Given the description of an element on the screen output the (x, y) to click on. 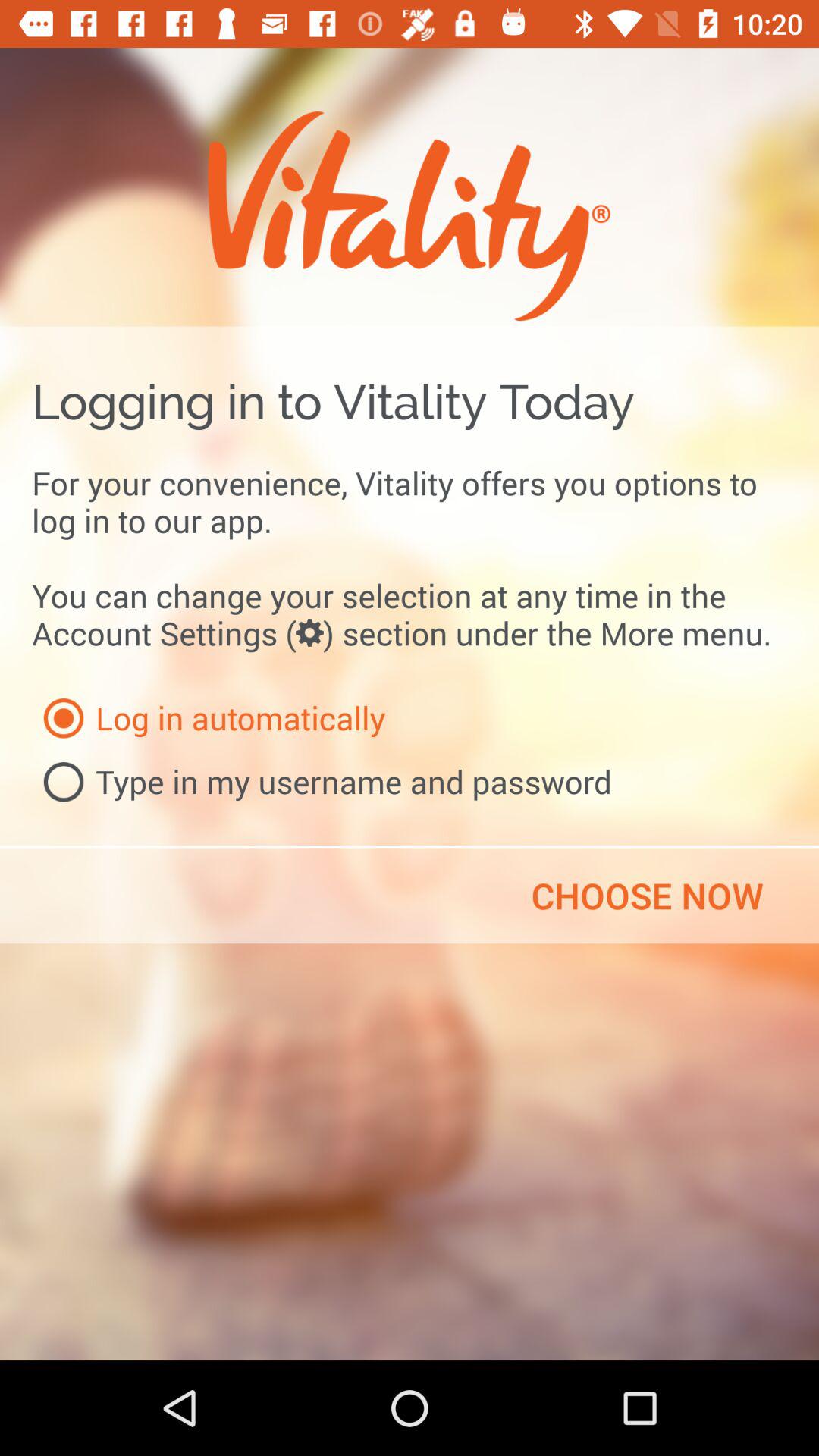
turn off type in my item (321, 781)
